Given the description of an element on the screen output the (x, y) to click on. 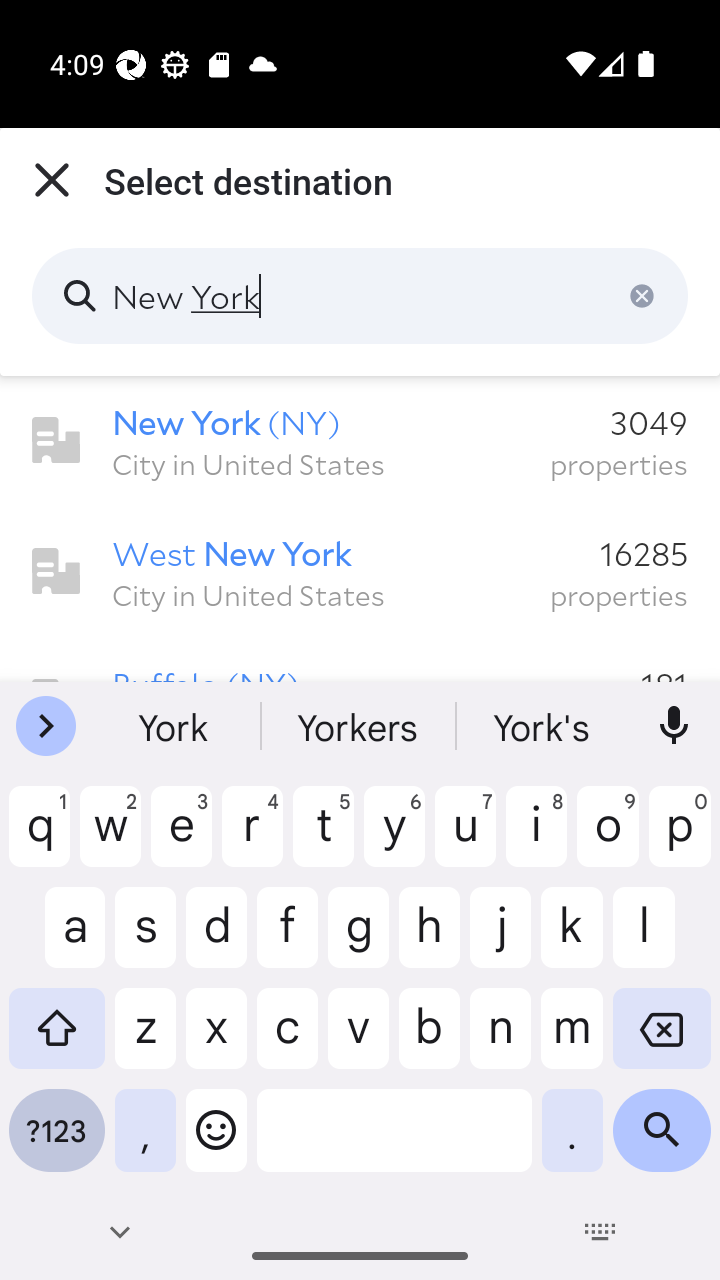
New York (359, 296)
